Given the description of an element on the screen output the (x, y) to click on. 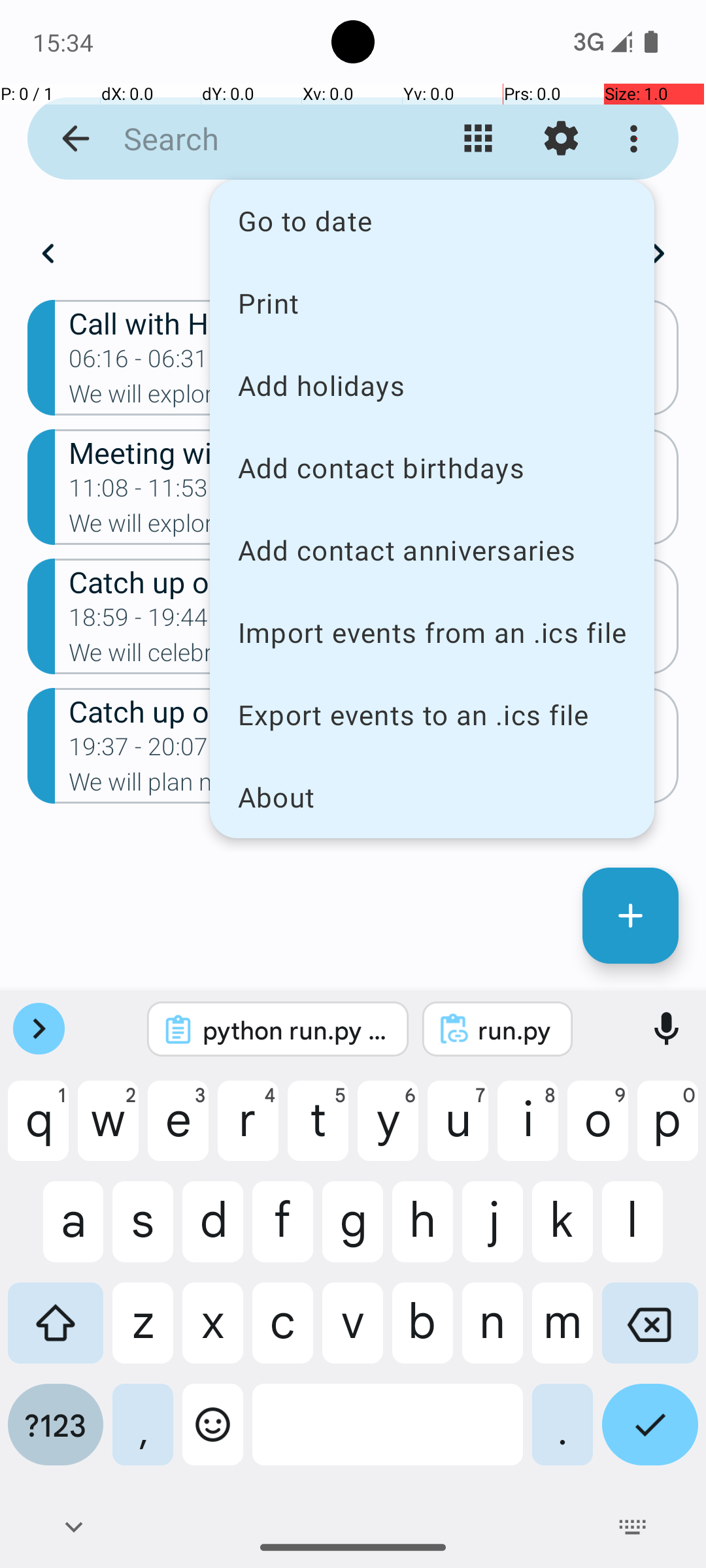
Go to date Element type: android.widget.TextView (431, 220)
Print Element type: android.widget.TextView (431, 302)
Add holidays Element type: android.widget.TextView (431, 384)
Add contact birthdays Element type: android.widget.TextView (431, 467)
Add contact anniversaries Element type: android.widget.TextView (431, 549)
Import events from an .ics file Element type: android.widget.TextView (431, 631)
Export events to an .ics file Element type: android.widget.TextView (431, 714)
